Given the description of an element on the screen output the (x, y) to click on. 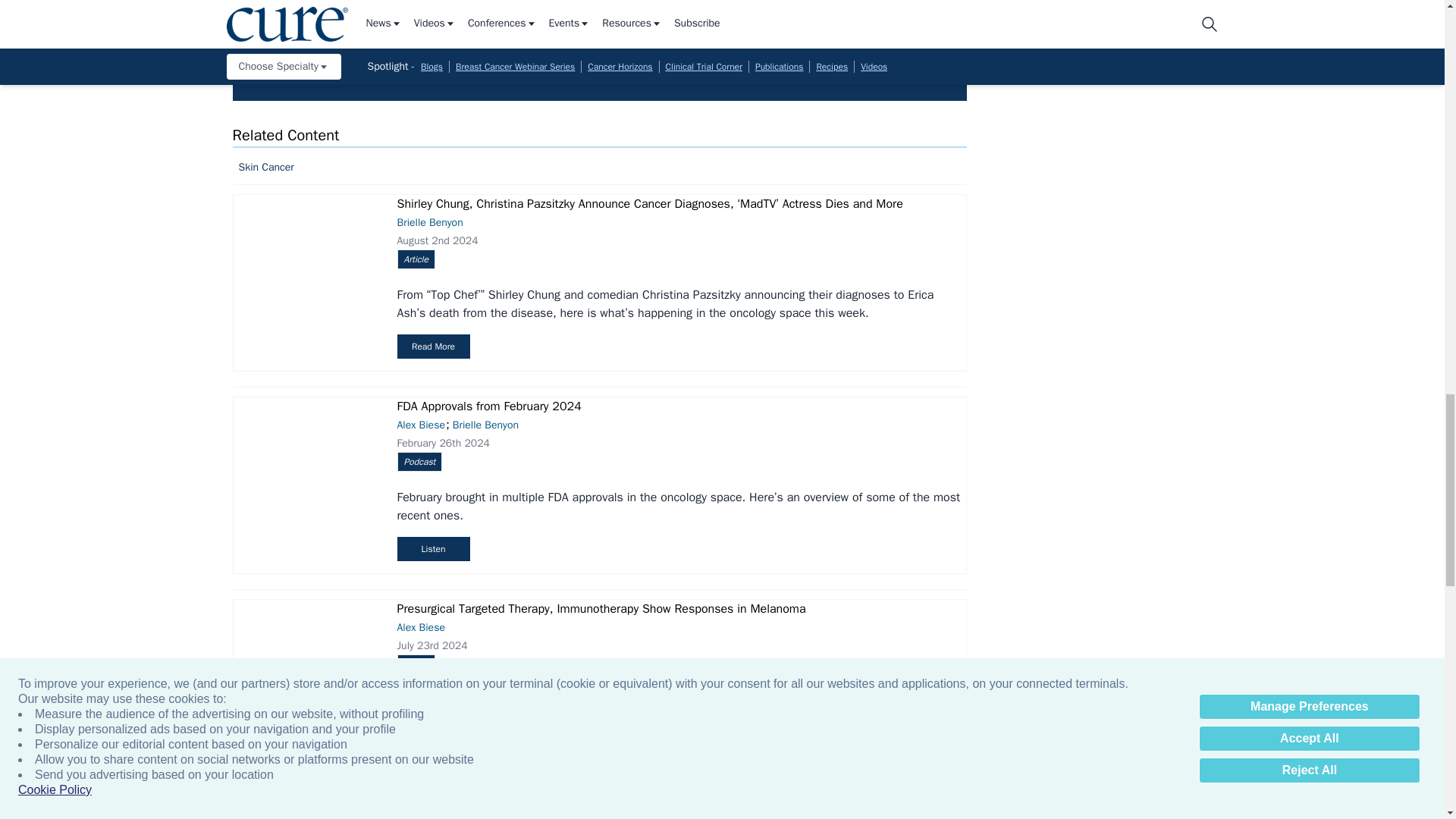
Lorenzo G. Cohen (1163, 3)
Treating Skin Cancer Panel (835, 3)
Dr. Anna C. Pavlick (999, 3)
Dr. Jedd D. Wolchok (1326, 3)
Dr. Beth Goldstein in an interview with CURE  (671, 3)
Image of a woman with blond hai (343, 3)
Dr. Manisha Thakuria in an interview with CURE (507, 3)
